Given the description of an element on the screen output the (x, y) to click on. 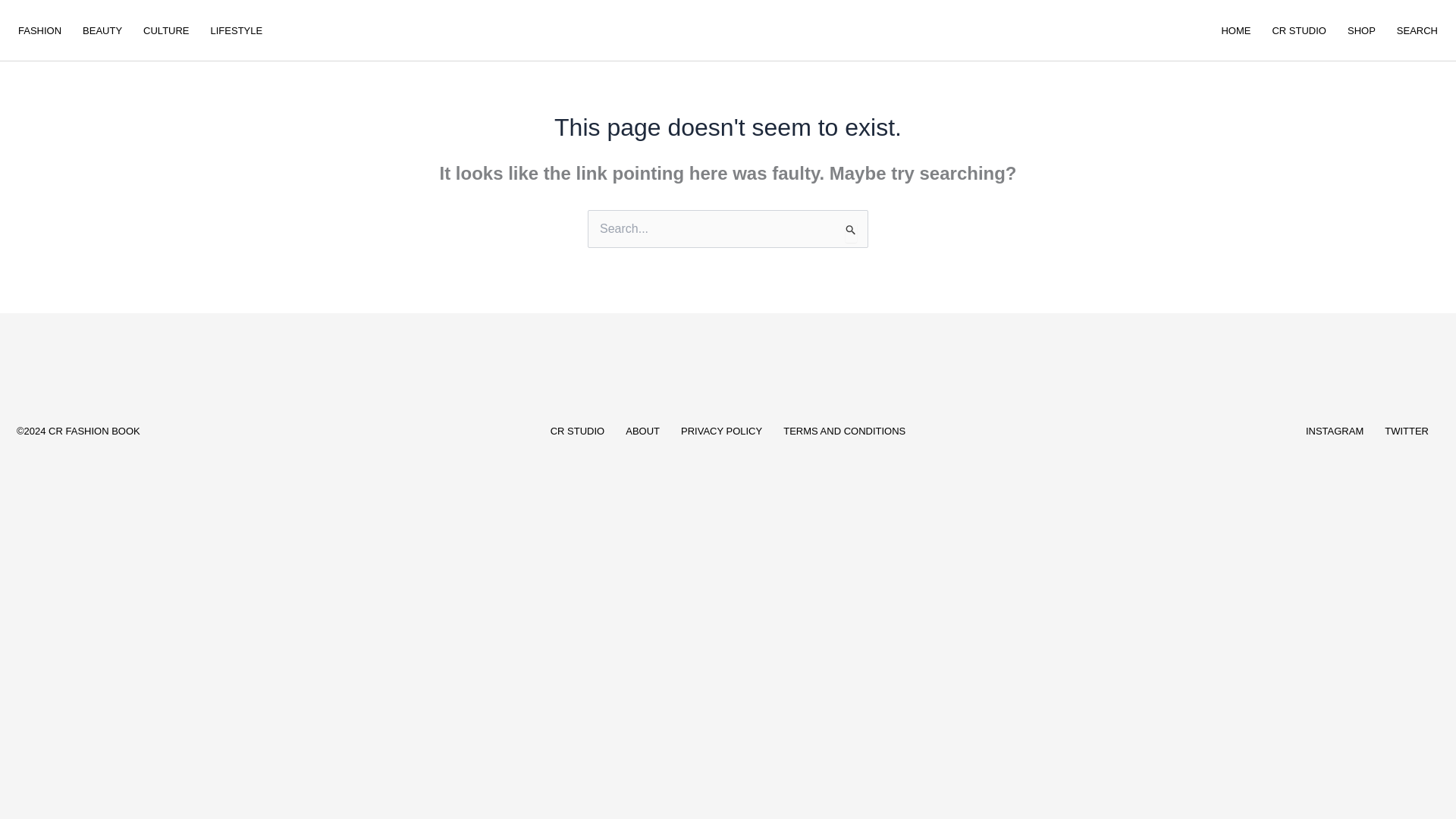
CR STUDIO (1298, 30)
CR STUDIO (577, 430)
HOME (1234, 30)
FASHION (39, 30)
INSTAGRAM (1334, 430)
TERMS AND CONDITIONS (844, 430)
ABOUT (641, 430)
SEARCH (1417, 30)
SHOP (1361, 30)
TWITTER (1406, 430)
